Given the description of an element on the screen output the (x, y) to click on. 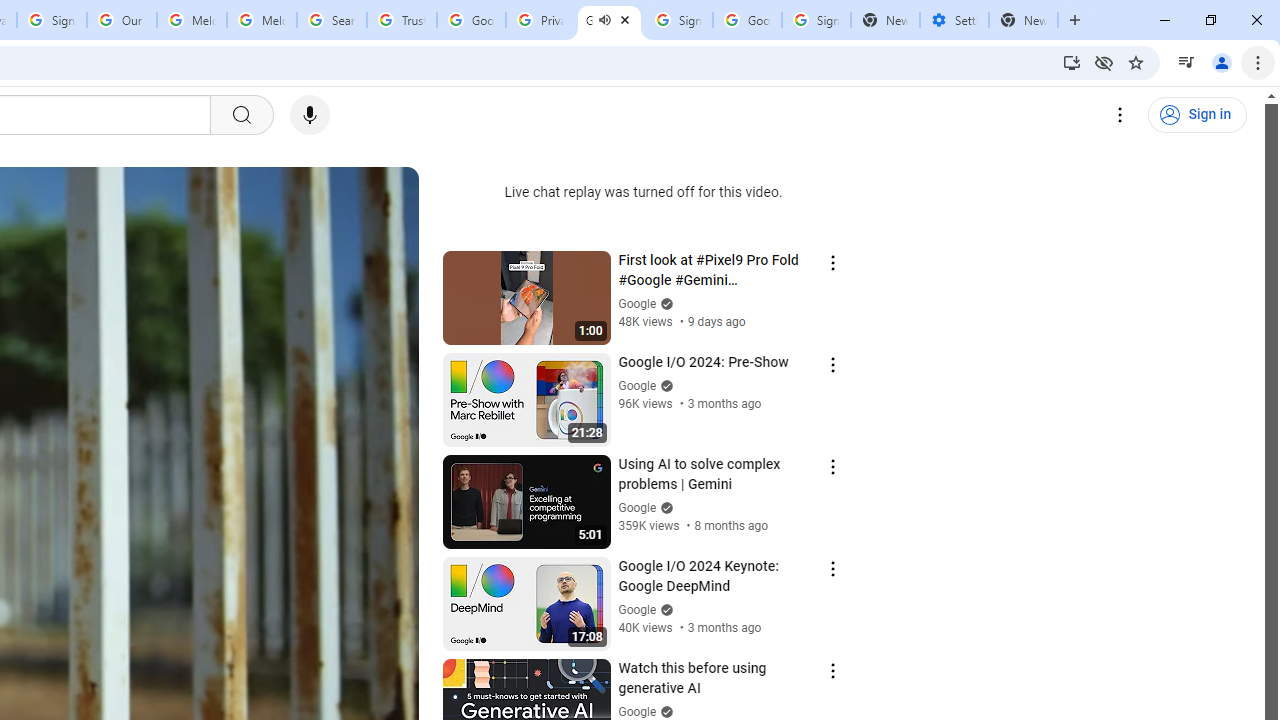
Sign in - Google Accounts (51, 20)
